Given the description of an element on the screen output the (x, y) to click on. 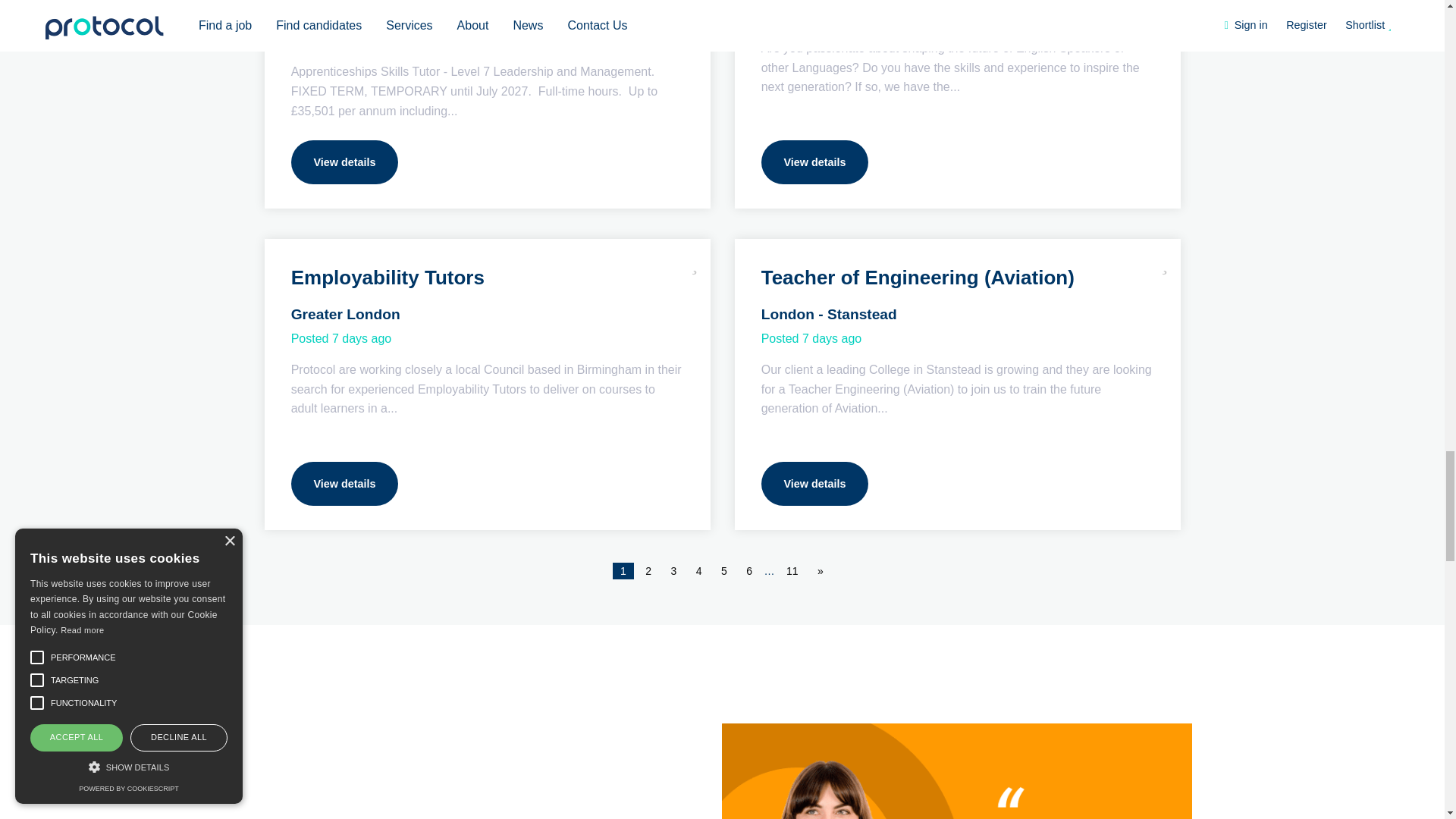
Add this job to shortlist (694, 262)
Add this job to shortlist (1164, 262)
